Given the description of an element on the screen output the (x, y) to click on. 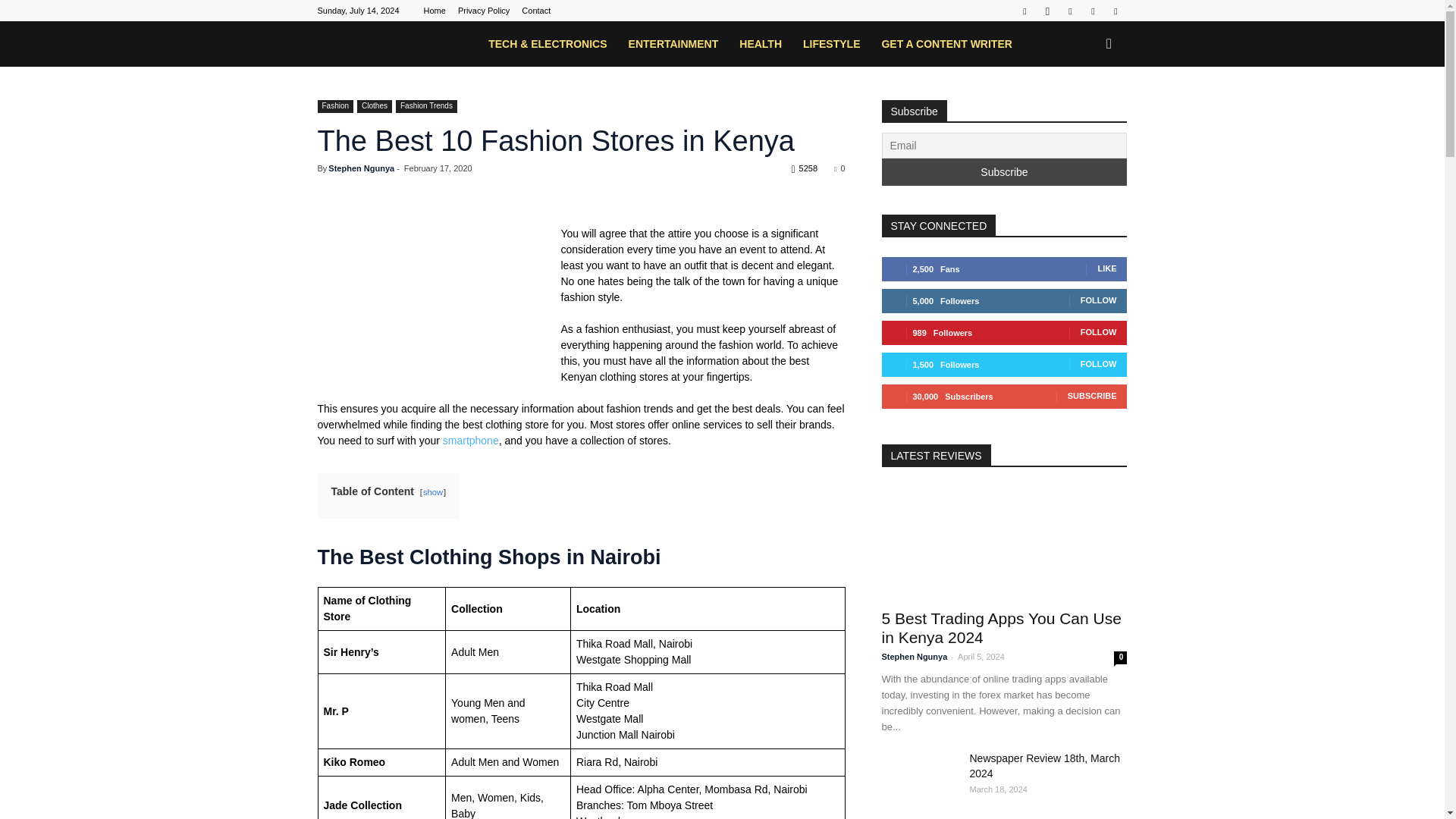
Contact (535, 10)
Subscribe (1003, 171)
Facebook (1024, 10)
Instagram (1046, 10)
Youtube (1114, 10)
Home (434, 10)
Privacy Policy (483, 10)
Twitter (1092, 10)
Pinterest (1069, 10)
